Given the description of an element on the screen output the (x, y) to click on. 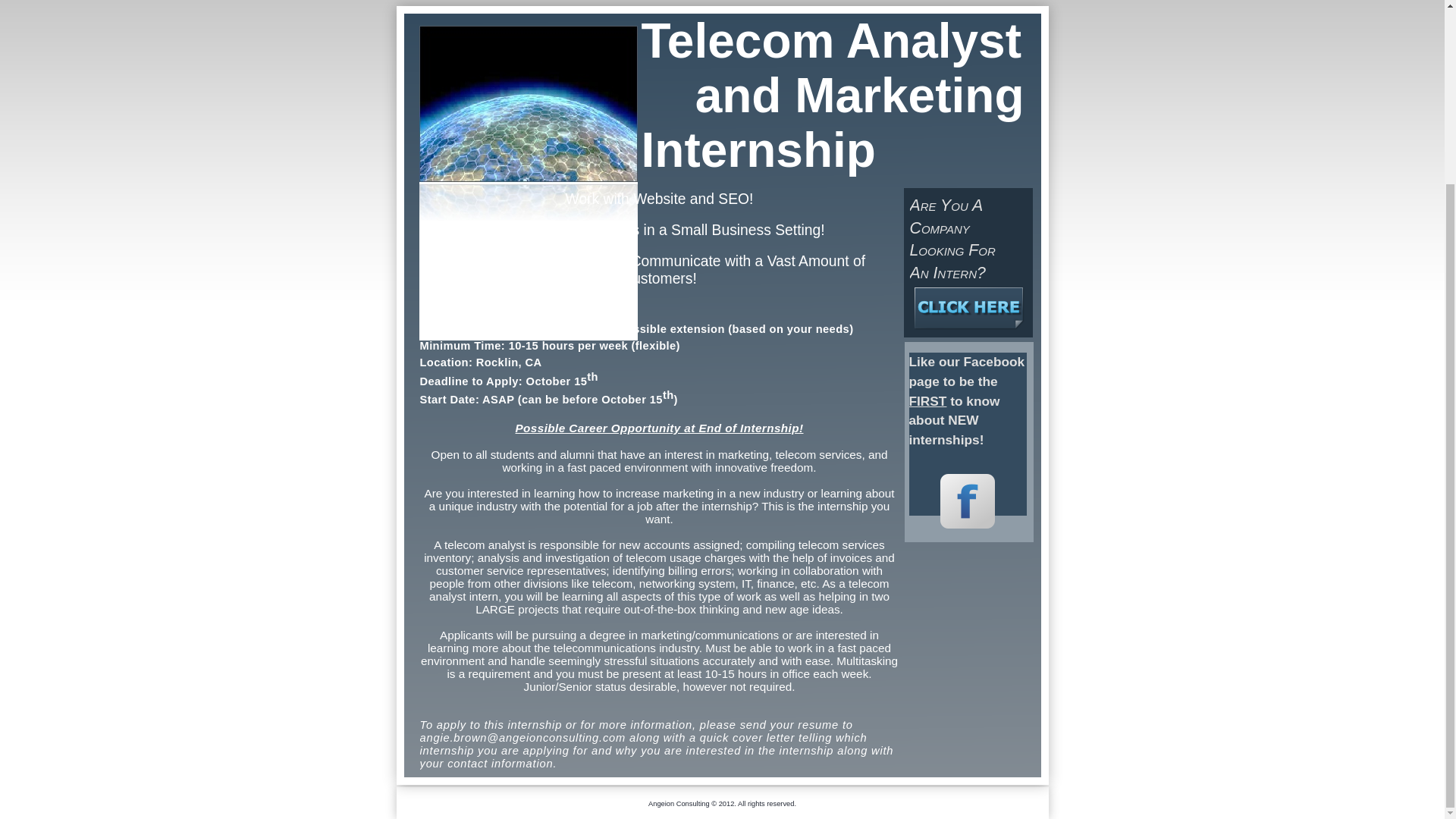
Are You A Company Looking For (952, 227)
An Intern? (947, 272)
